Given the description of an element on the screen output the (x, y) to click on. 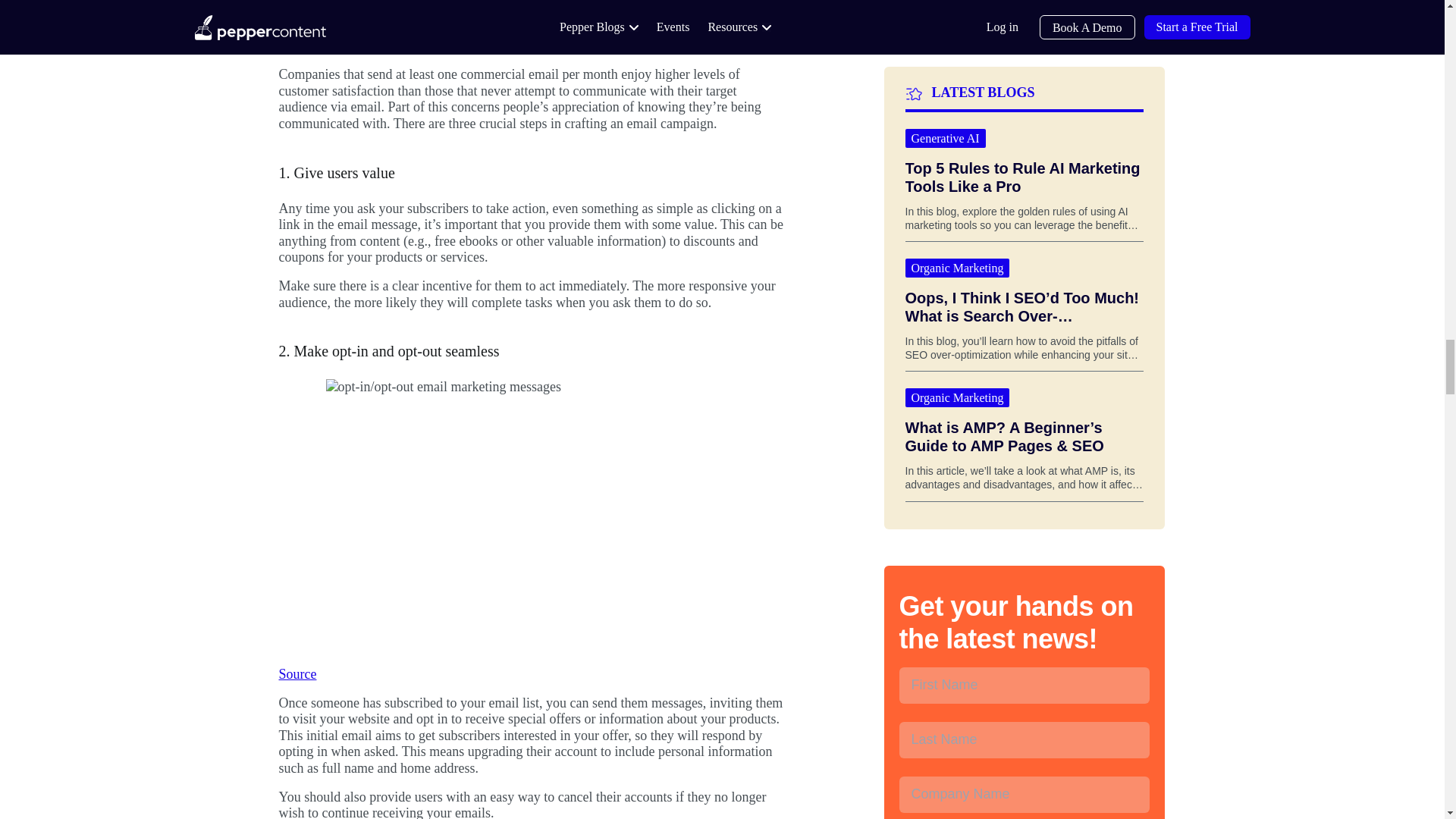
Source (298, 673)
